Given the description of an element on the screen output the (x, y) to click on. 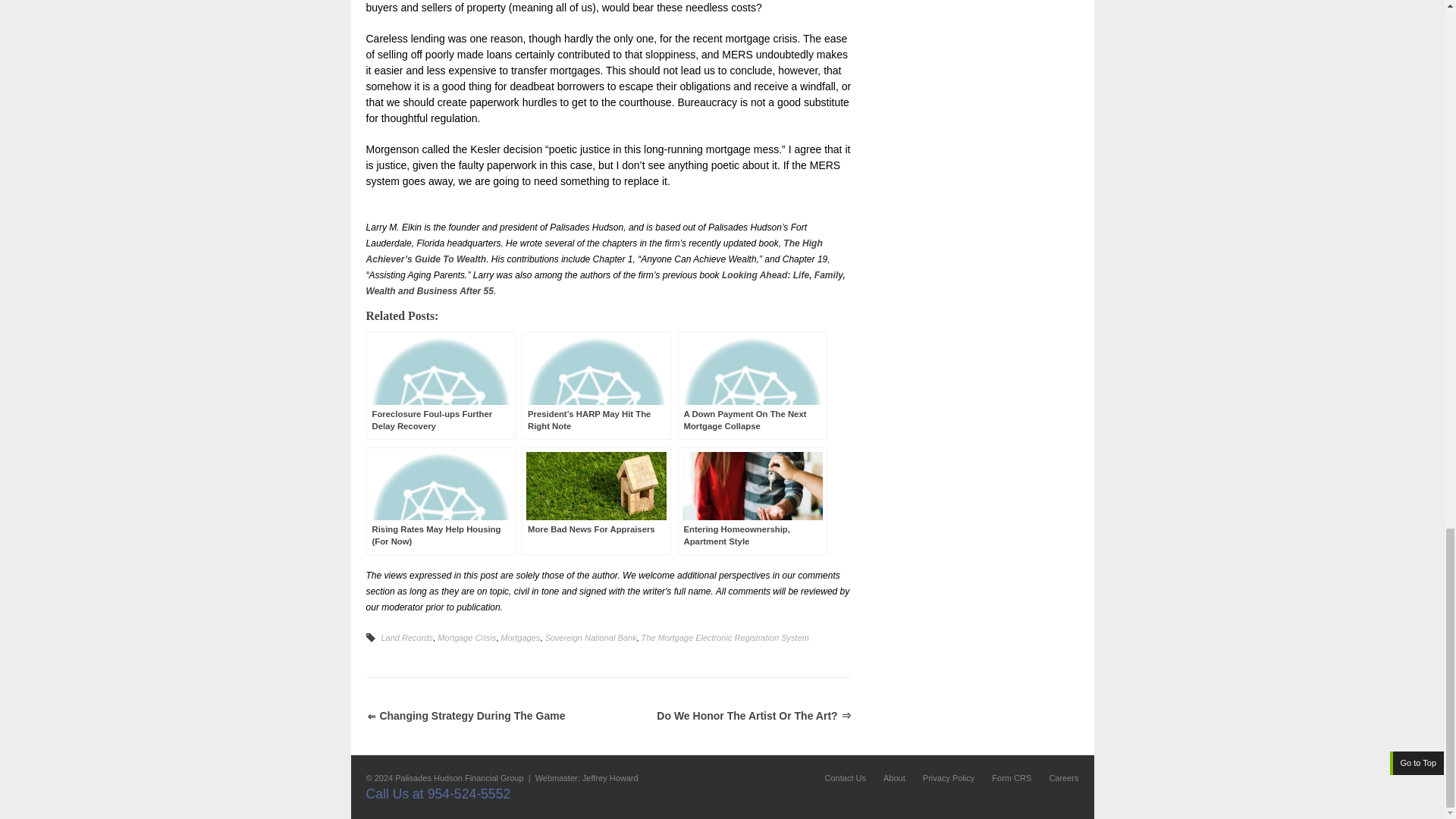
Land Records (406, 637)
The Mortgage Electronic Registration System (725, 637)
Foreclosure Foul-ups Further Delay Recovery (440, 385)
Mortgage Crisis (467, 637)
Foreclosure Foul-ups Further Delay Recovery (440, 385)
More Bad News For Appraisers (596, 501)
Entering Homeownership, Apartment Style (752, 501)
A Down Payment On The Next Mortgage Collapse (752, 385)
A Down Payment On The Next Mortgage Collapse (752, 385)
Sovereign National Bank (590, 637)
Looking Ahead: Life, Family, Wealth and Business After 55 (604, 283)
Mortgages (520, 637)
